Given the description of an element on the screen output the (x, y) to click on. 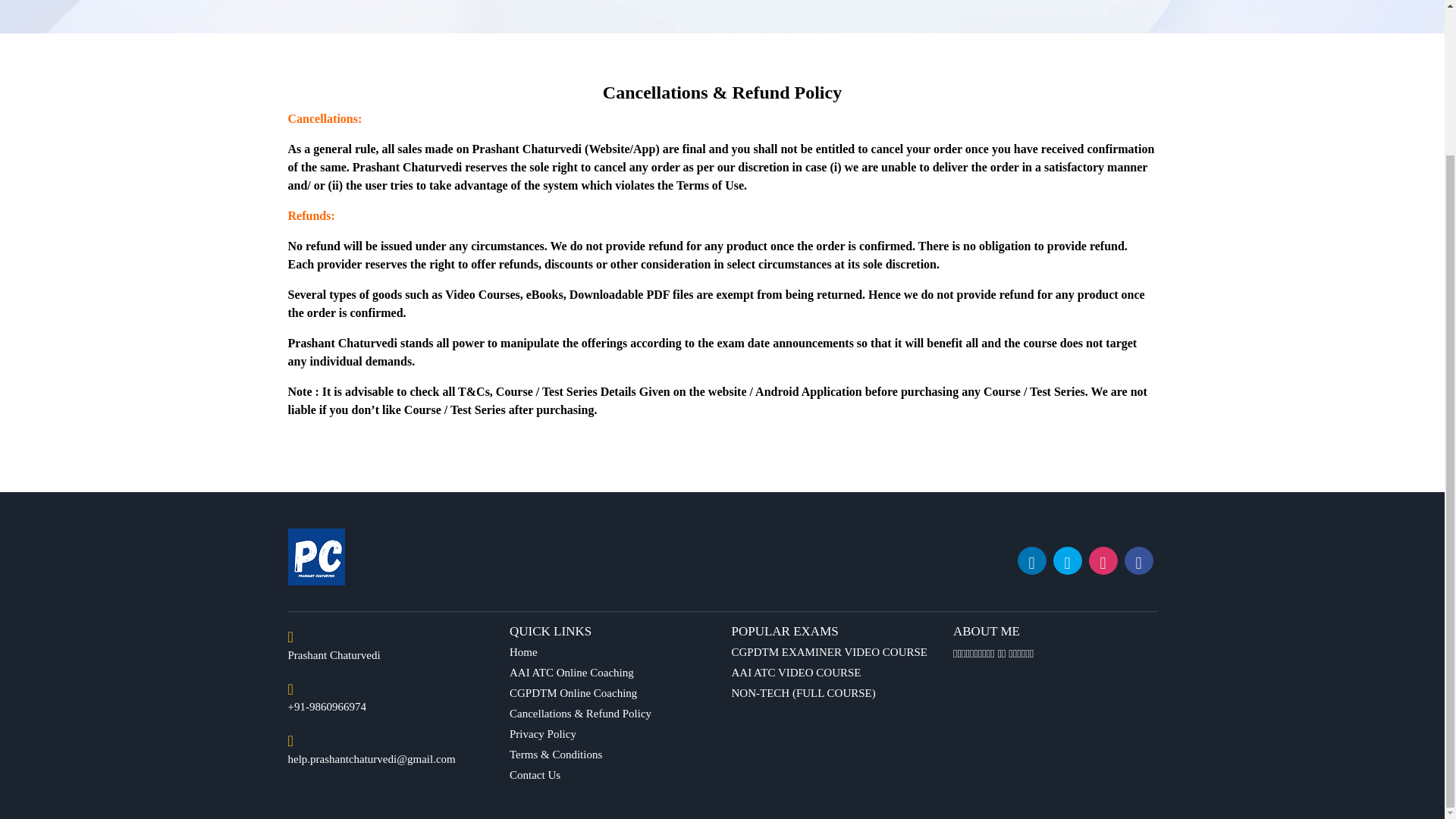
Privacy Policy (542, 734)
AAI ATC Online Coaching (571, 672)
CGPDTM Online Coaching (573, 693)
Contact Us (534, 775)
CGPDTM EXAMINER VIDEO COURSE (828, 652)
Home (523, 652)
